Given the description of an element on the screen output the (x, y) to click on. 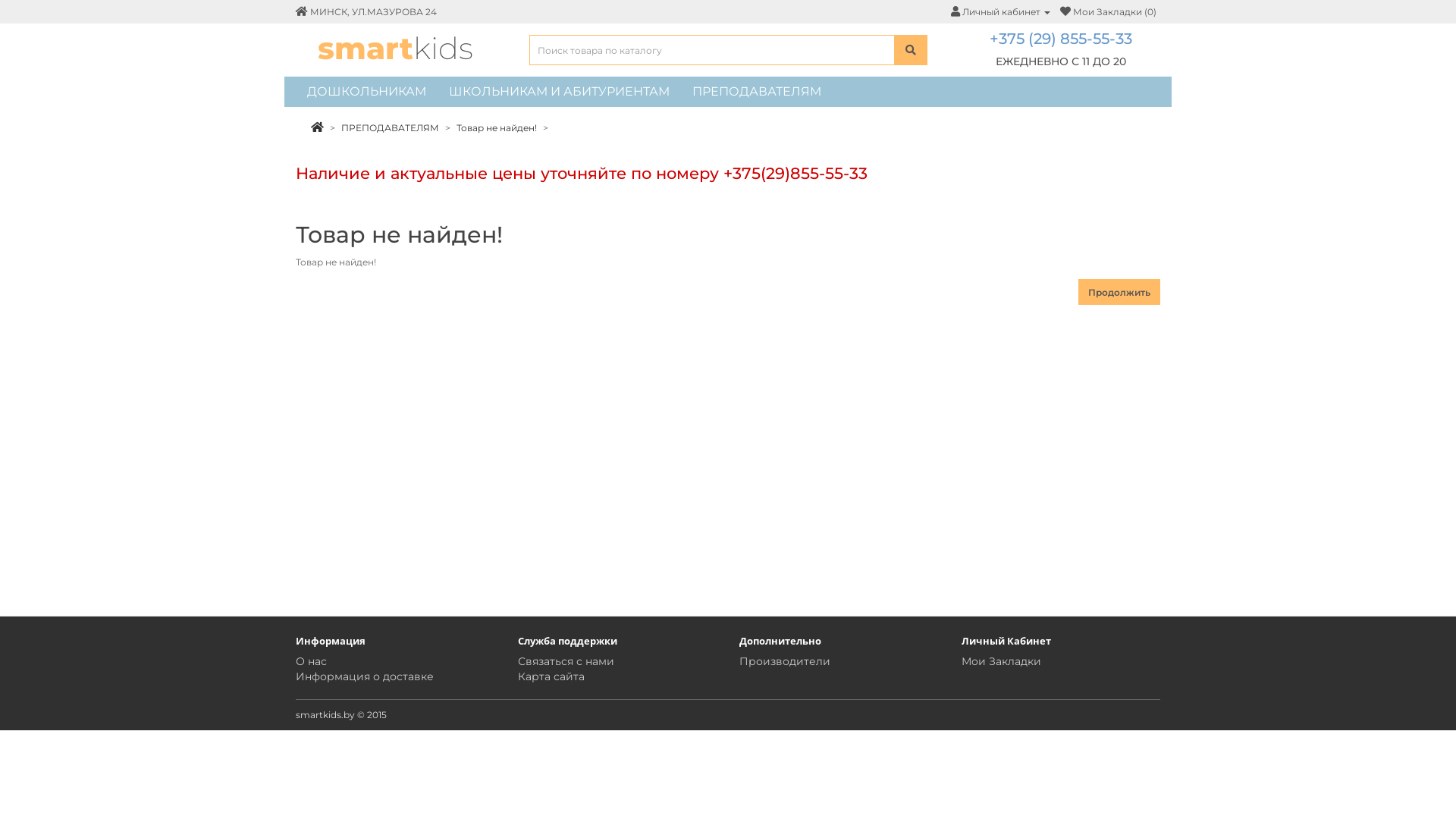
smartkids Element type: text (395, 47)
